Given the description of an element on the screen output the (x, y) to click on. 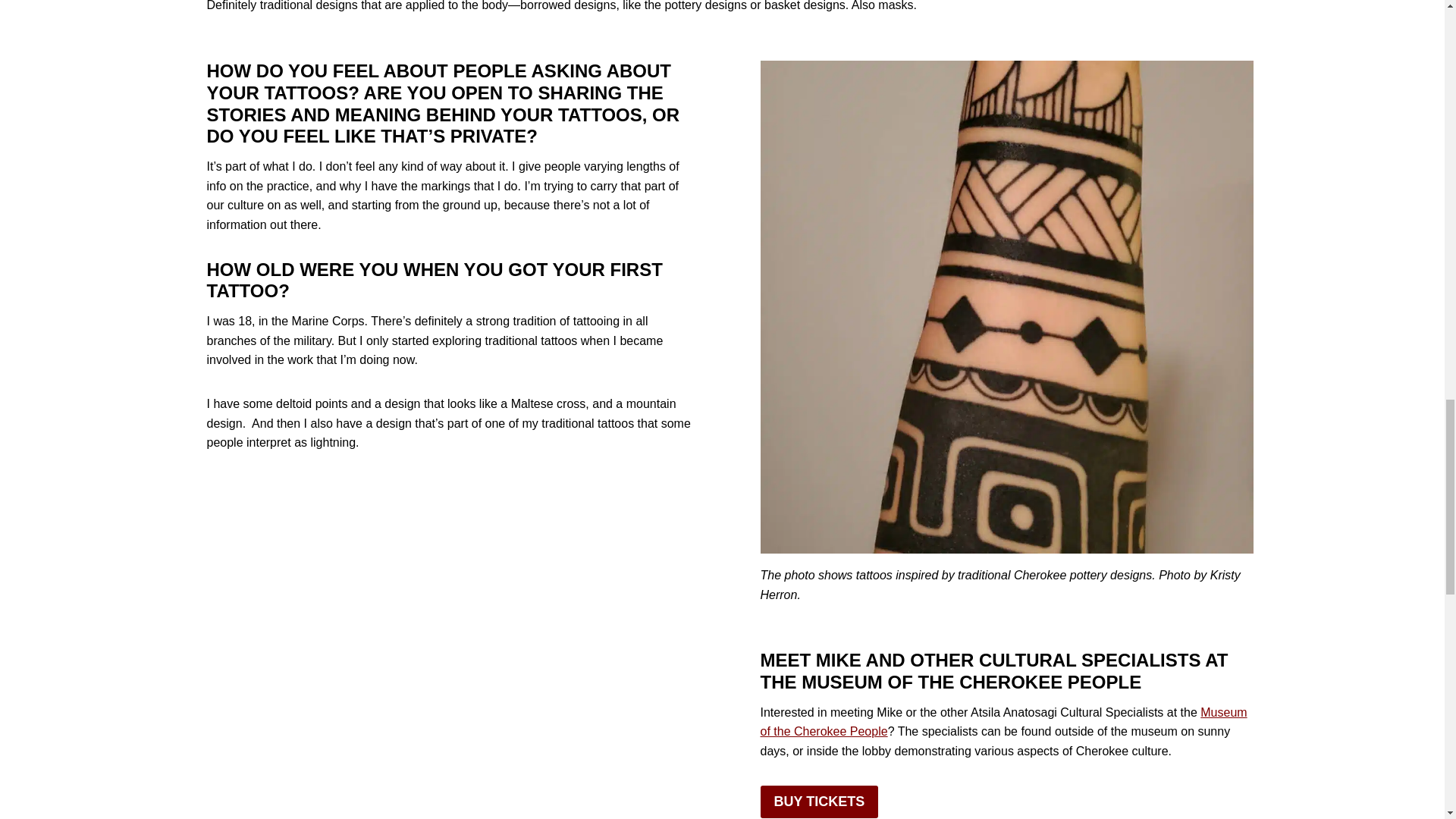
Google map of museum of the cherokee people (1003, 721)
